Given the description of an element on the screen output the (x, y) to click on. 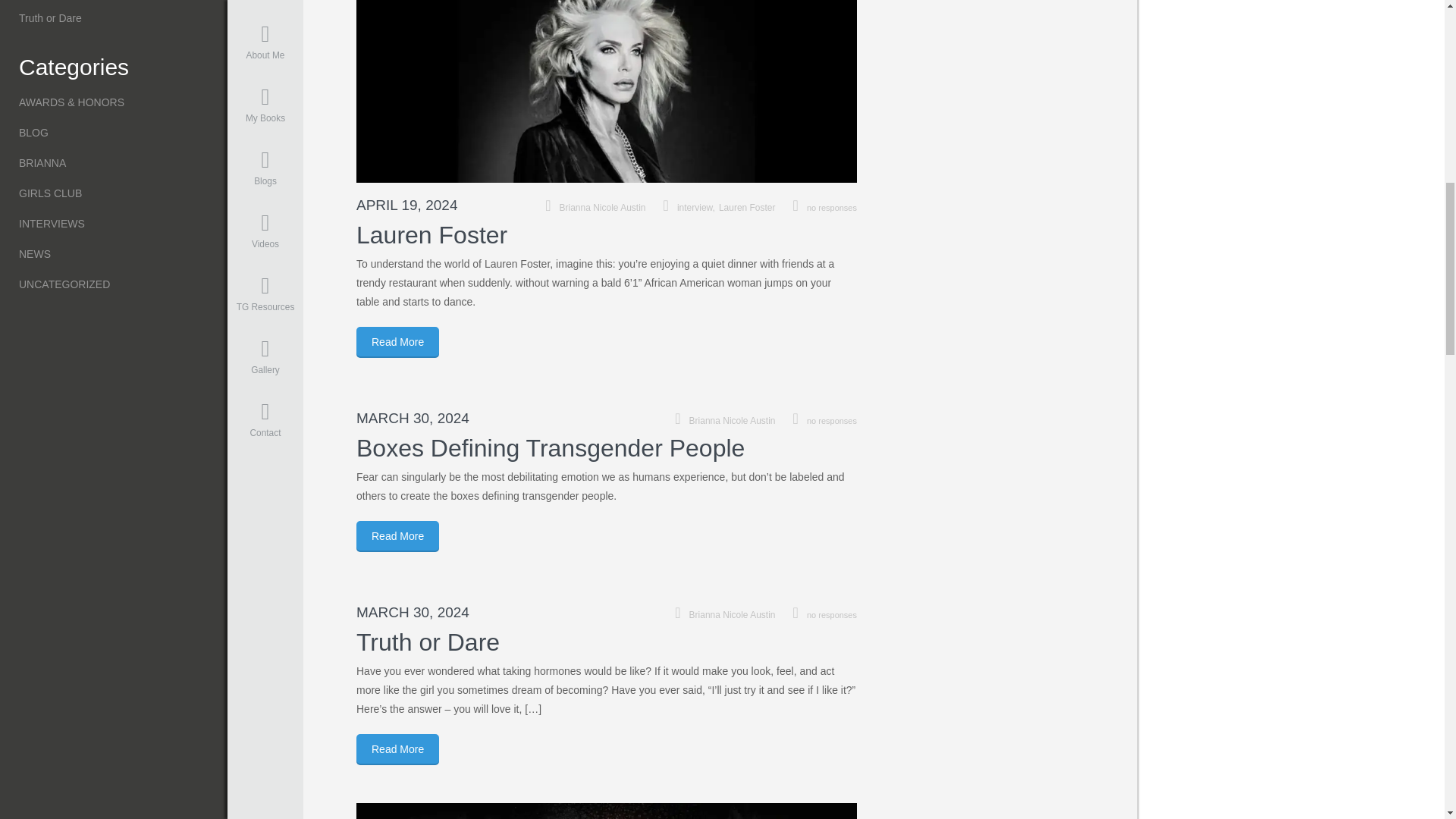
Read More (397, 748)
Boxes Defining Transgender People (550, 447)
interview, (698, 207)
Brianna Nicole Austin (602, 207)
Lauren Foster (747, 207)
Read More (397, 341)
Truth or Dare (427, 642)
Read More (397, 536)
Brianna Nicole Austin (732, 420)
Lauren Foster (431, 234)
